Given the description of an element on the screen output the (x, y) to click on. 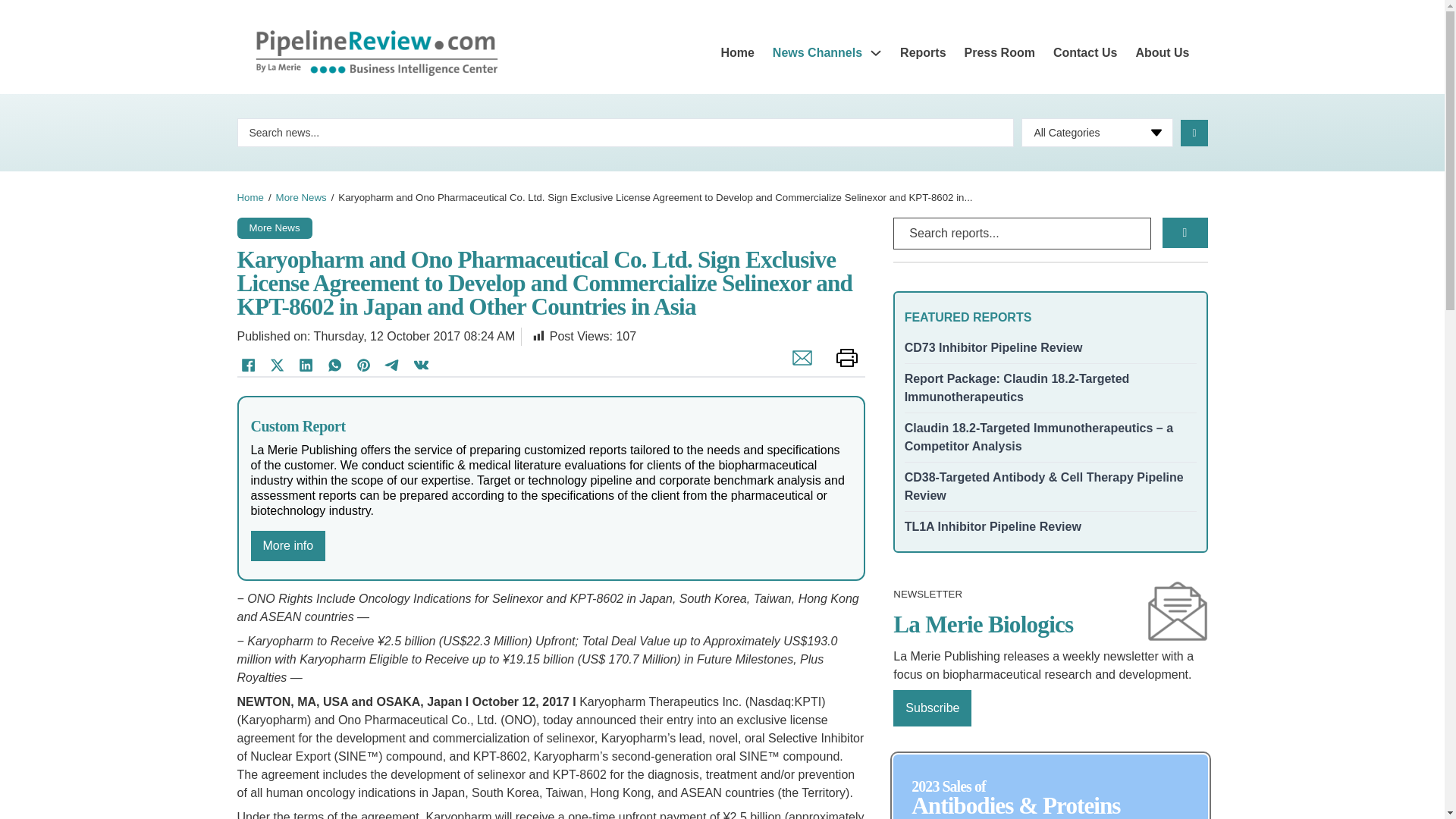
News Channels (817, 53)
Share by Email (798, 365)
Contact Us (1084, 53)
CD73 Inhibitor Pipeline Review (993, 346)
Reports (921, 53)
Home (249, 197)
More News (301, 197)
All Categories (1097, 132)
More News (273, 226)
Press Room (999, 53)
Home (737, 53)
About Us (1162, 53)
Share by Email (798, 365)
